Given the description of an element on the screen output the (x, y) to click on. 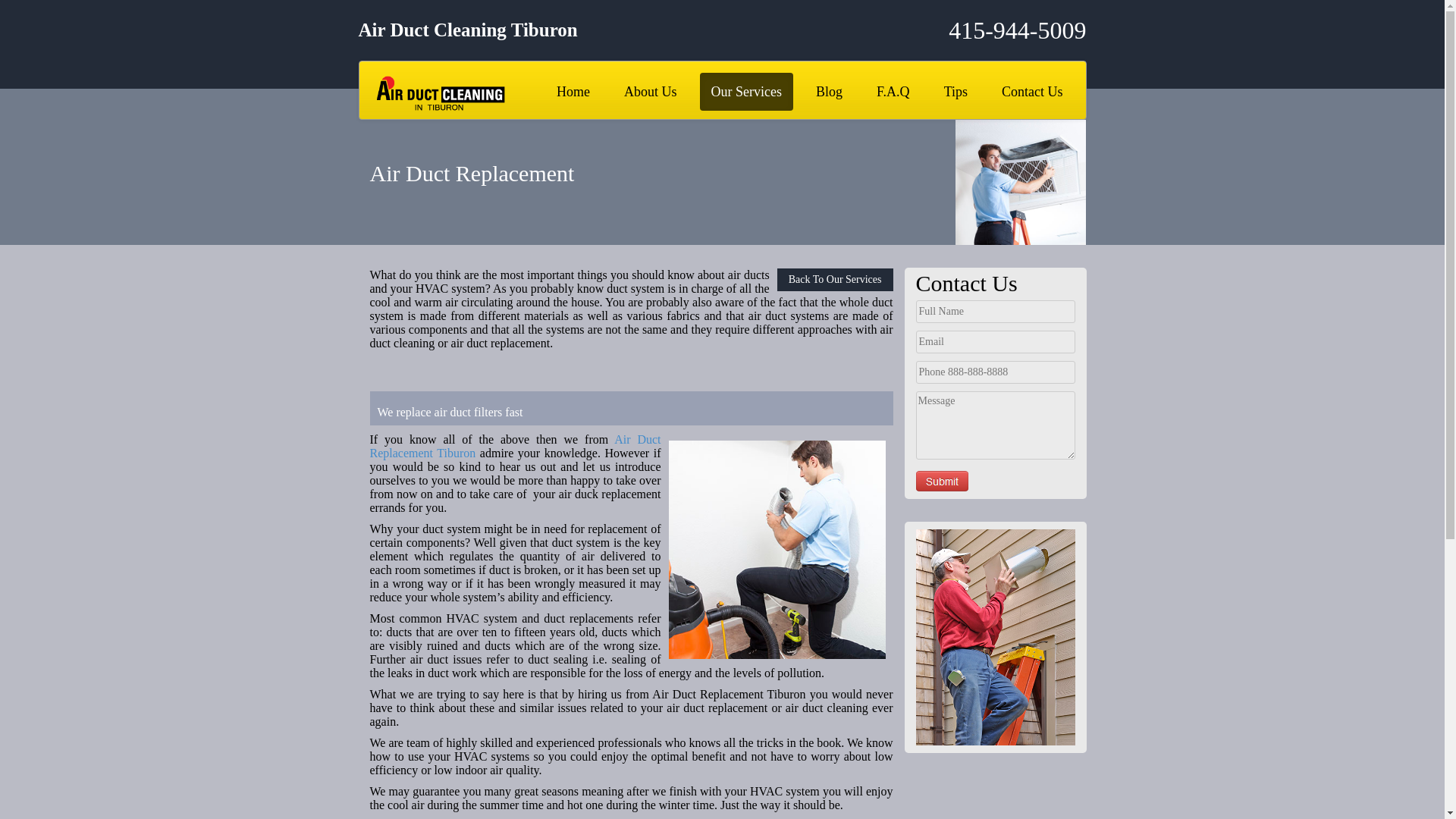
Our Services (746, 91)
Tips (955, 91)
Air Duct Replacement Tiburon (515, 446)
415-944-5009 (964, 30)
Back To Our Services (835, 279)
Contact Us (1032, 91)
About Us (650, 91)
F.A.Q (892, 91)
Home (572, 91)
Air Duct Replacement (776, 549)
Blog (829, 91)
